Given the description of an element on the screen output the (x, y) to click on. 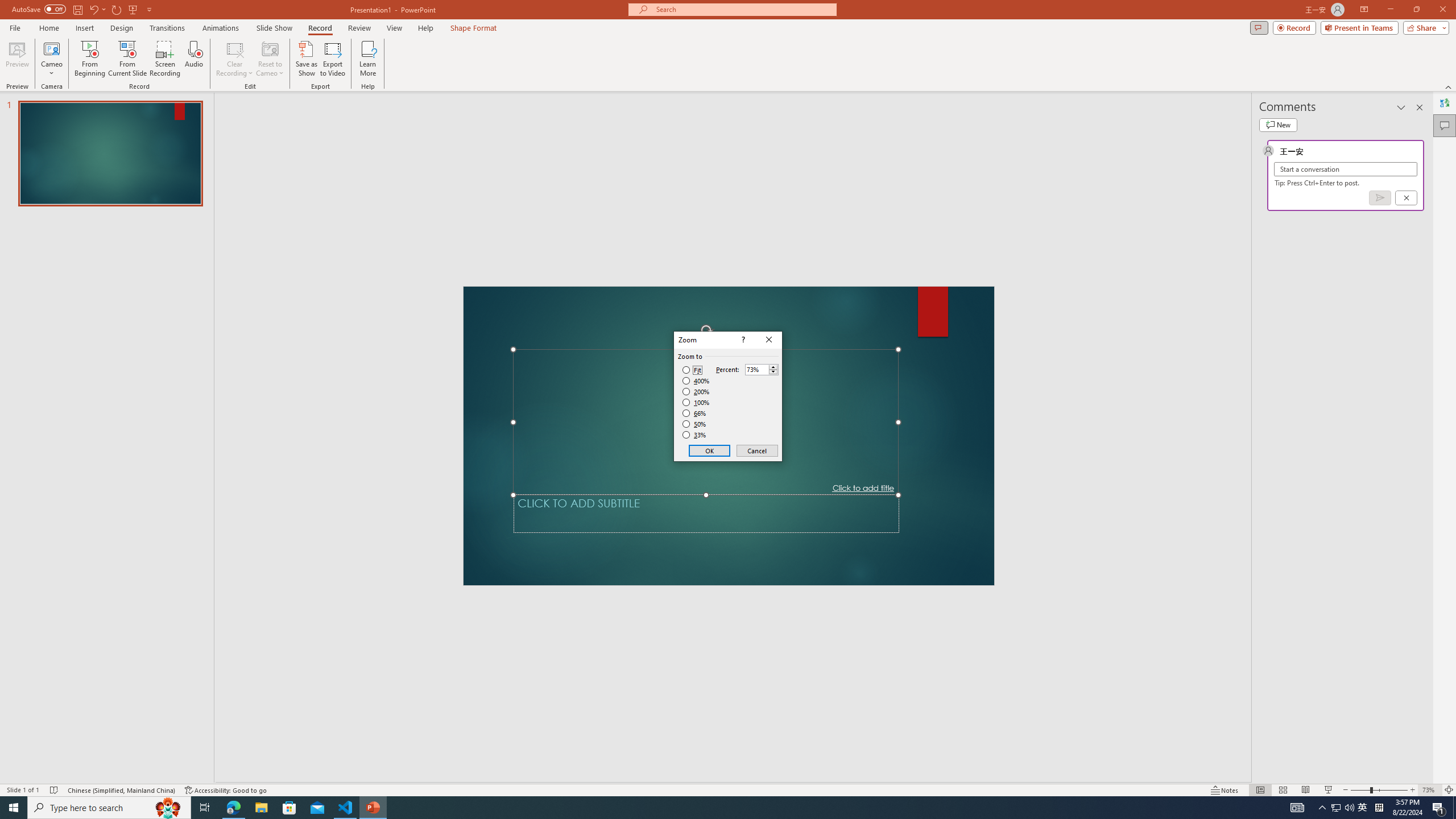
200% (696, 391)
Clear Recording (234, 58)
Screen Recording (165, 58)
Context help (742, 339)
Type here to search (108, 807)
